Given the description of an element on the screen output the (x, y) to click on. 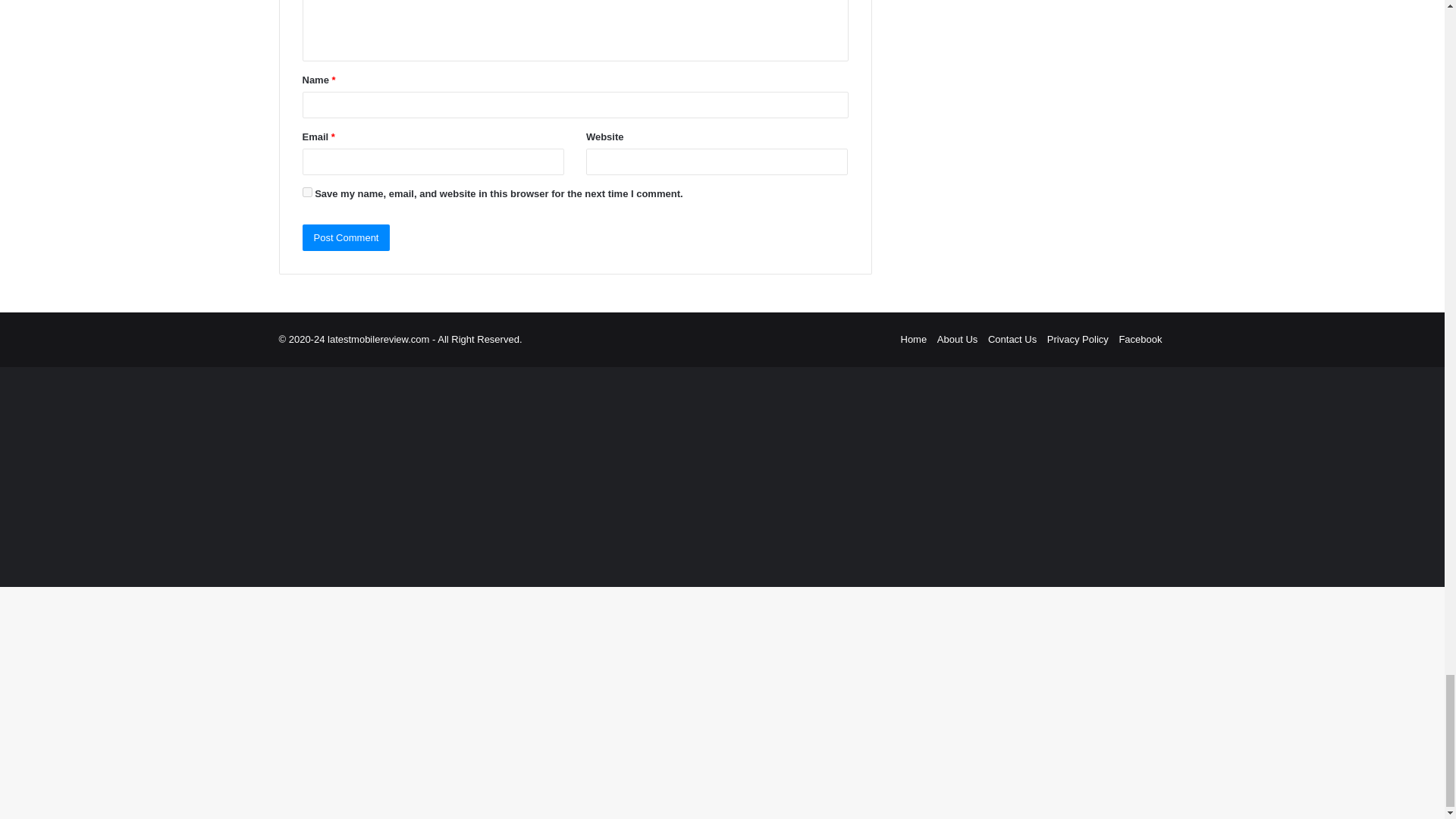
yes (306, 192)
Post Comment (345, 237)
